Given the description of an element on the screen output the (x, y) to click on. 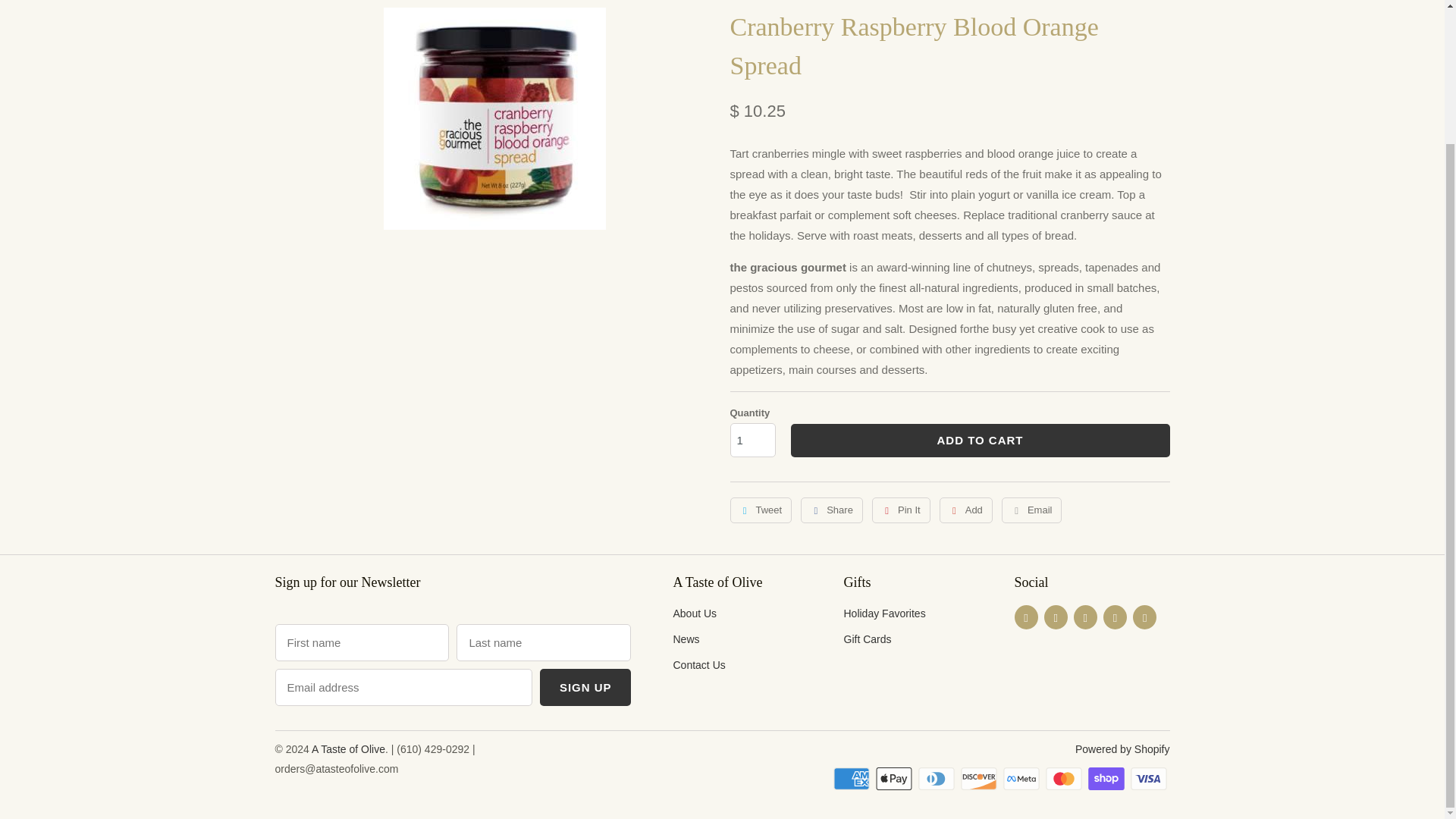
Share this on Facebook (831, 510)
A Taste of Olive on Pinterest (1085, 617)
Shop Pay (1106, 778)
Diners Club (938, 778)
Visa (1149, 778)
Share this on Twitter (760, 510)
Mastercard (1064, 778)
Sign Up (585, 687)
Discover (980, 778)
Email this to a friend (1031, 510)
Meta Pay (1022, 778)
A Taste of Olive on Twitter (1026, 617)
Share this on Pinterest (901, 510)
1 (751, 440)
Apple Pay (895, 778)
